Given the description of an element on the screen output the (x, y) to click on. 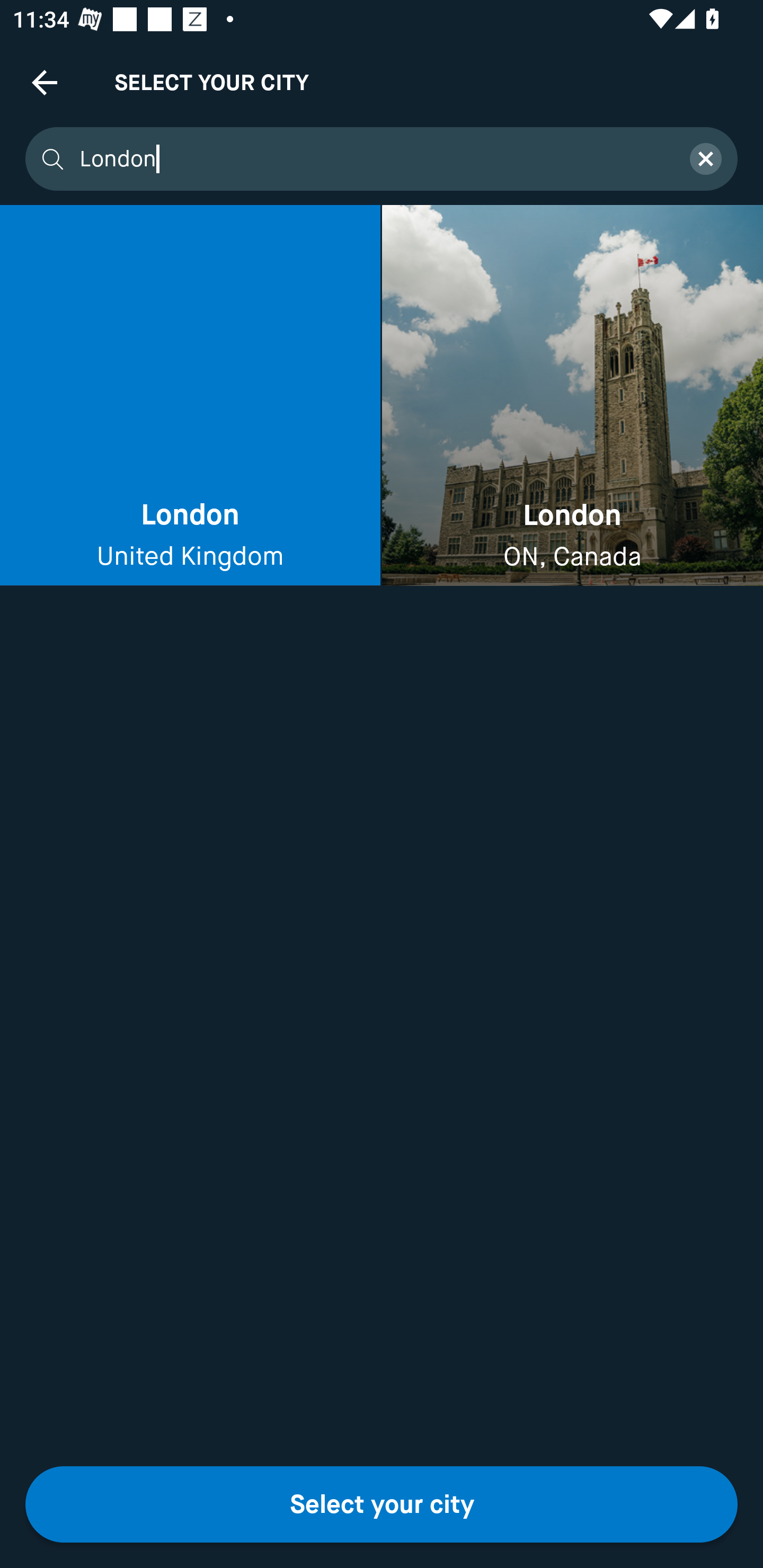
Navigate up (44, 82)
London (373, 159)
London United Kingdom (190, 395)
London ON, Canada (572, 395)
Select your city (381, 1504)
